Given the description of an element on the screen output the (x, y) to click on. 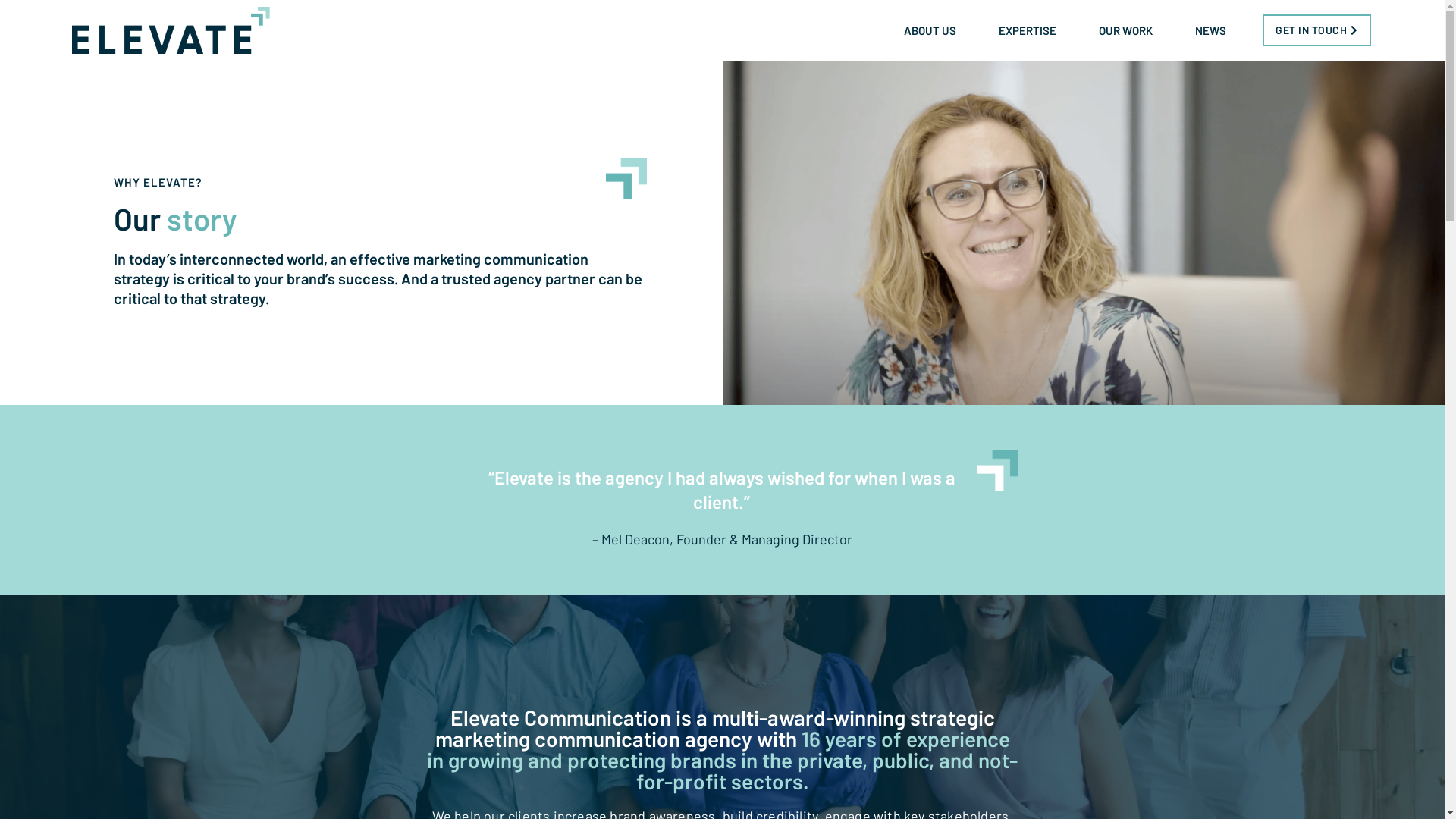
EXPERTISE Element type: text (1031, 29)
ABOUT US Element type: text (933, 29)
NEWS Element type: text (1210, 29)
GET IN TOUCH Element type: text (1316, 30)
OUR WORK Element type: text (1129, 29)
